Given the description of an element on the screen output the (x, y) to click on. 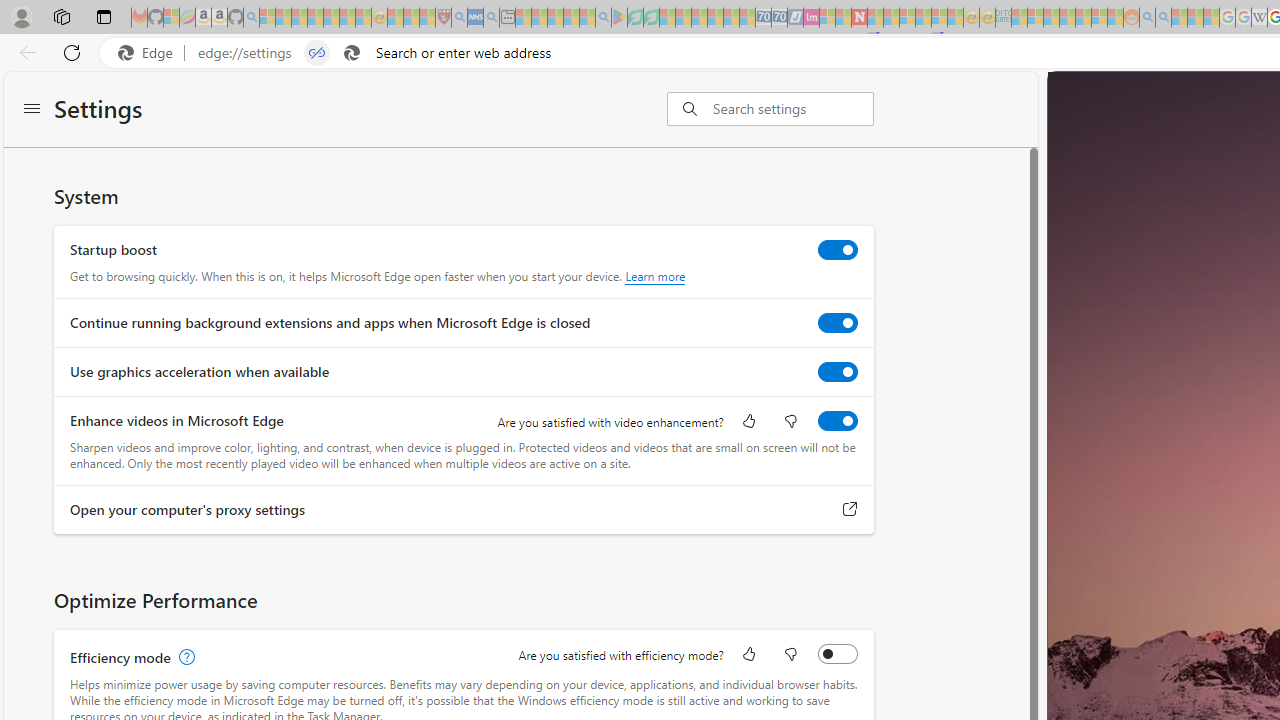
Open your computer's proxy settings (849, 509)
Microsoft start (1186, 104)
